Given the description of an element on the screen output the (x, y) to click on. 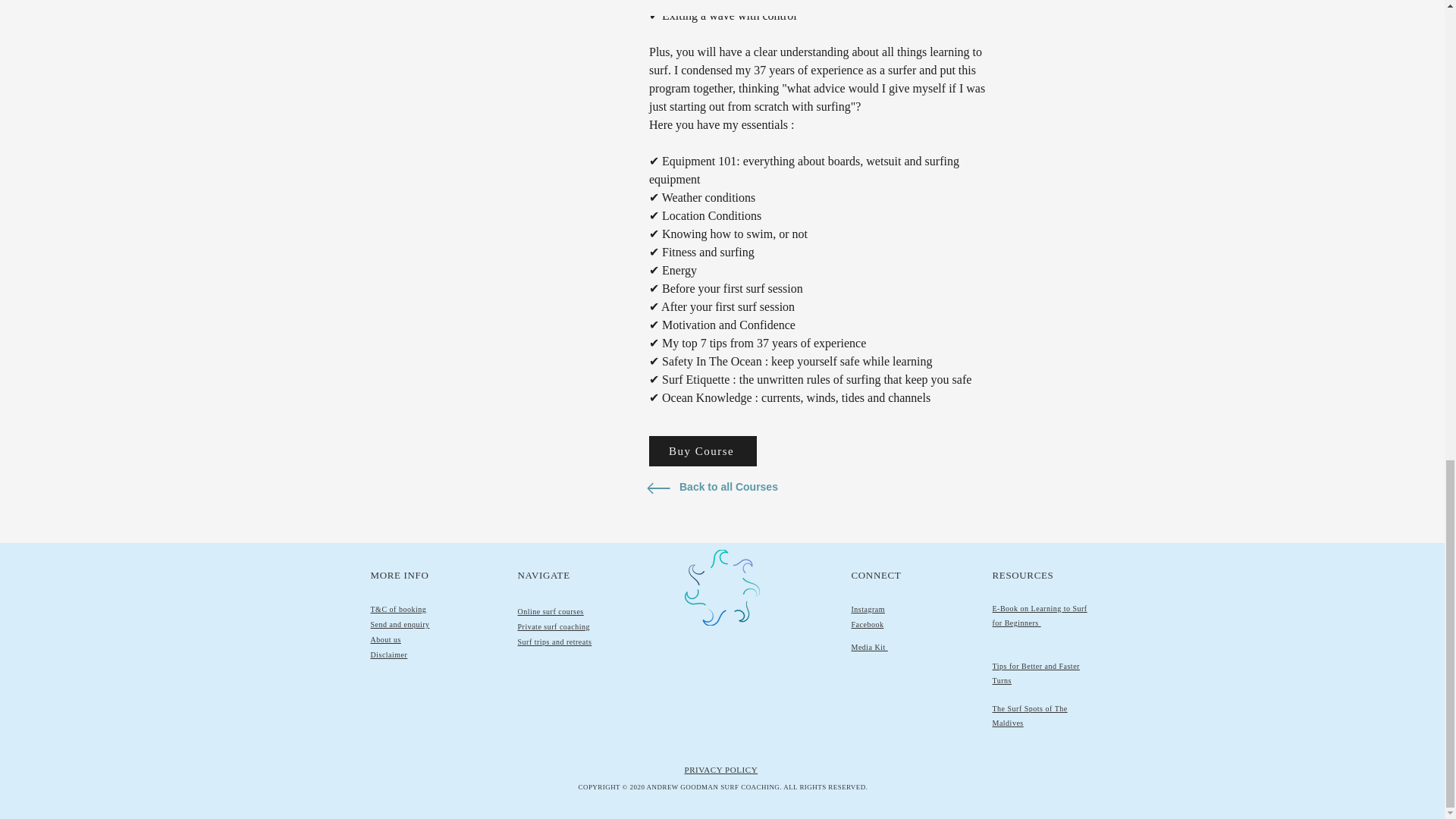
Surf trips and retreats (553, 642)
Online surf courses (549, 611)
E-Book on Learning to Surf for Beginners  (1038, 615)
About us (384, 639)
Facebook (866, 623)
The Surf Spots of The Maldives (1029, 715)
Send and enquiry (399, 623)
Buy Course (703, 450)
Private surf coaching (552, 626)
Back to all Courses (731, 487)
